Given the description of an element on the screen output the (x, y) to click on. 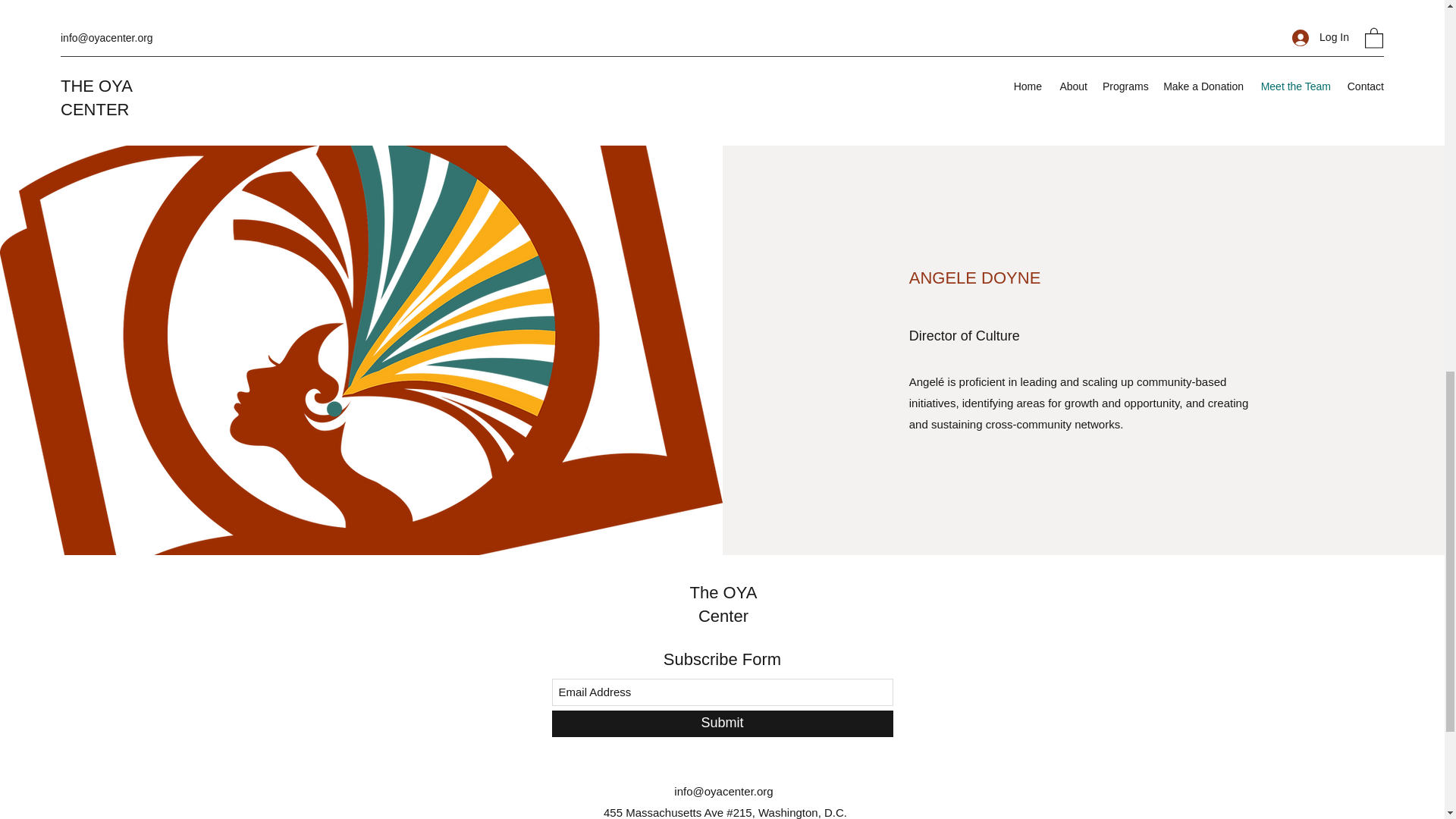
Submit (722, 723)
The OYA Center (723, 604)
